Given the description of an element on the screen output the (x, y) to click on. 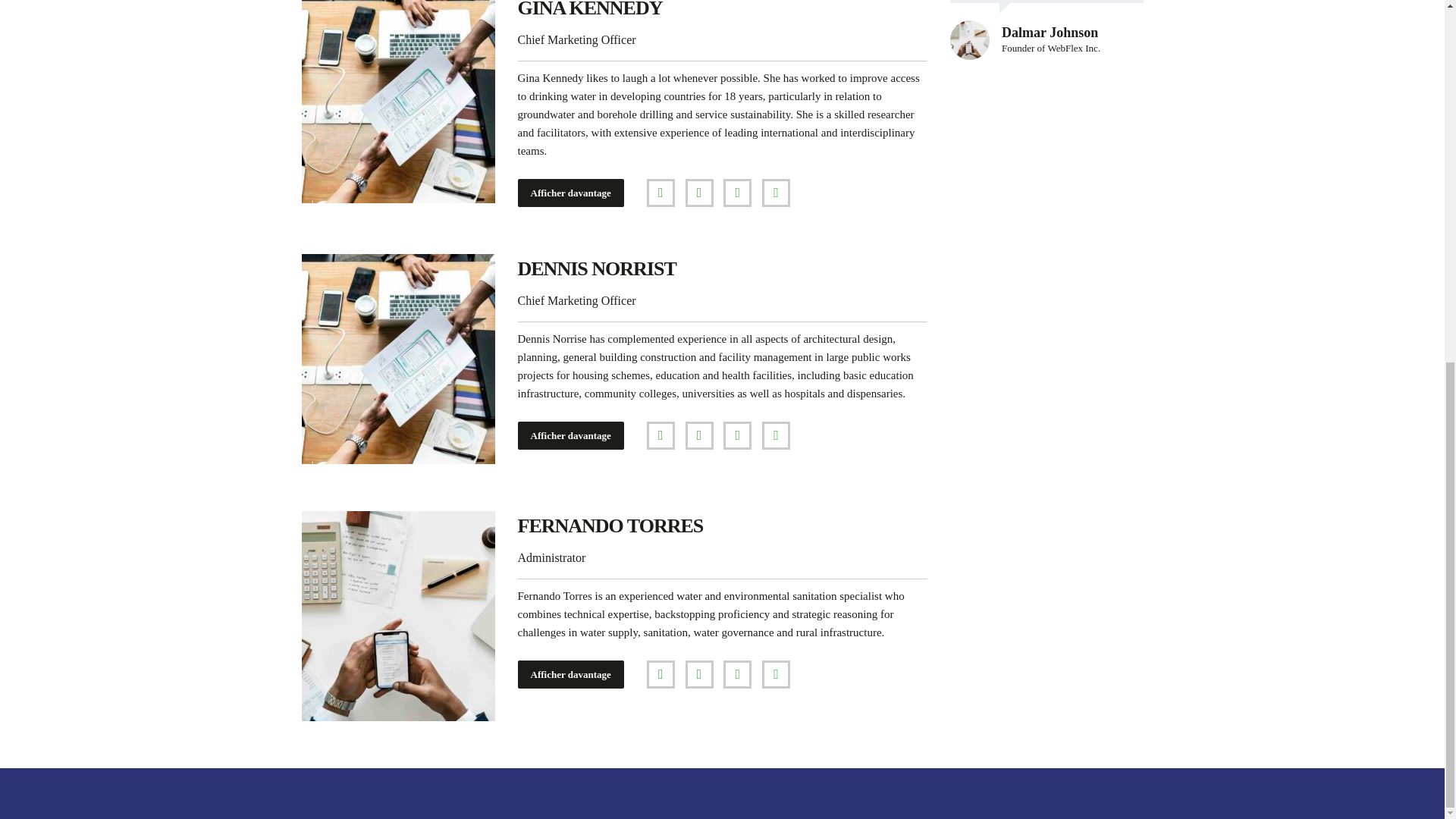
Afficher davantage (569, 435)
3 (398, 101)
Afficher davantage (569, 193)
Afficher davantage (569, 674)
3 (398, 358)
1 (398, 616)
Affichage de toutes les informations  (569, 674)
Affichage de toutes les informations  (569, 435)
Affichage de toutes les informations  (569, 193)
